Given the description of an element on the screen output the (x, y) to click on. 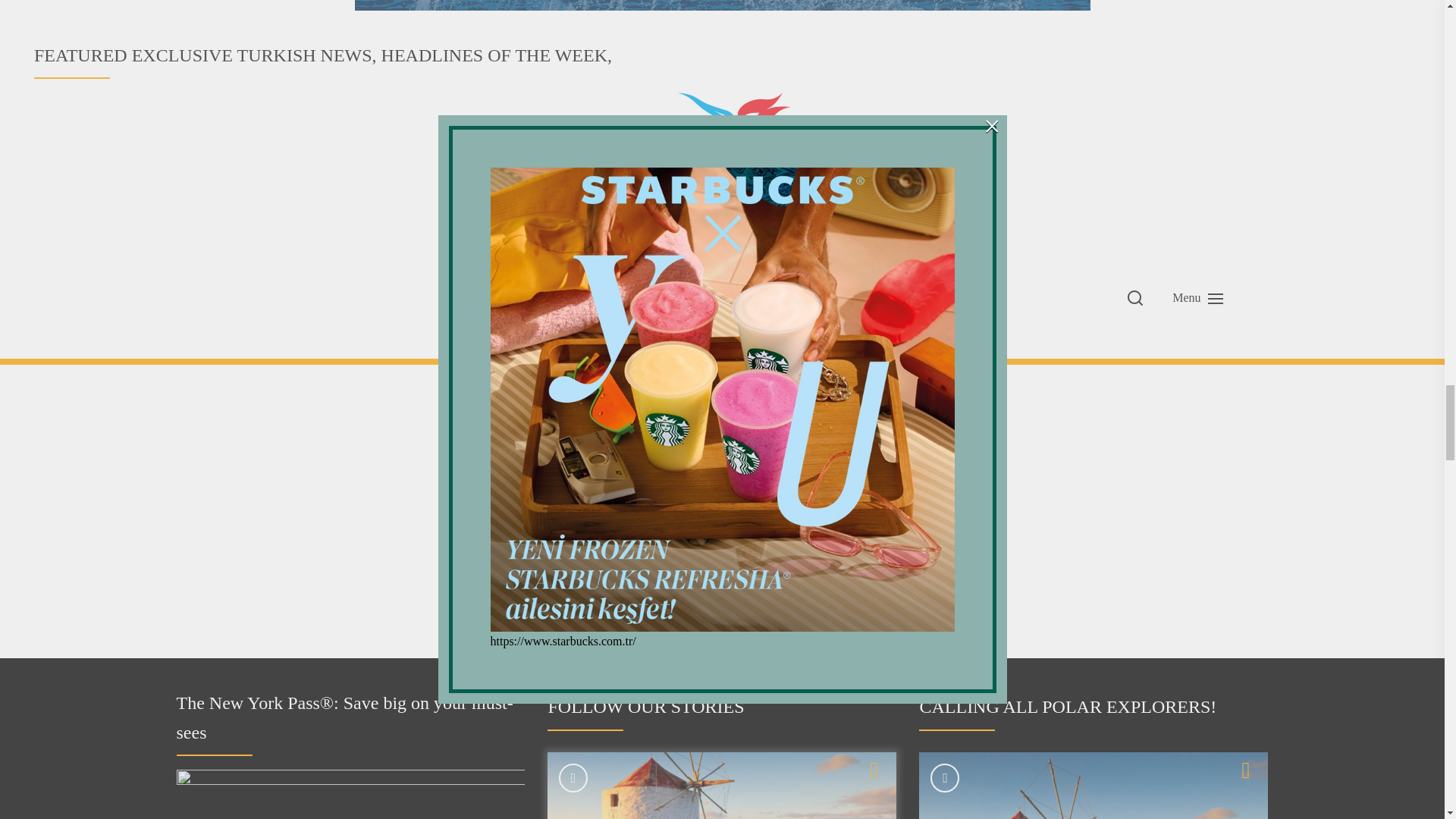
FEATURED EXCLUSIVE TURKISH NEWS, HEADLINES OF THE WEEK, (721, 153)
Search (880, 573)
Search (880, 573)
